Given the description of an element on the screen output the (x, y) to click on. 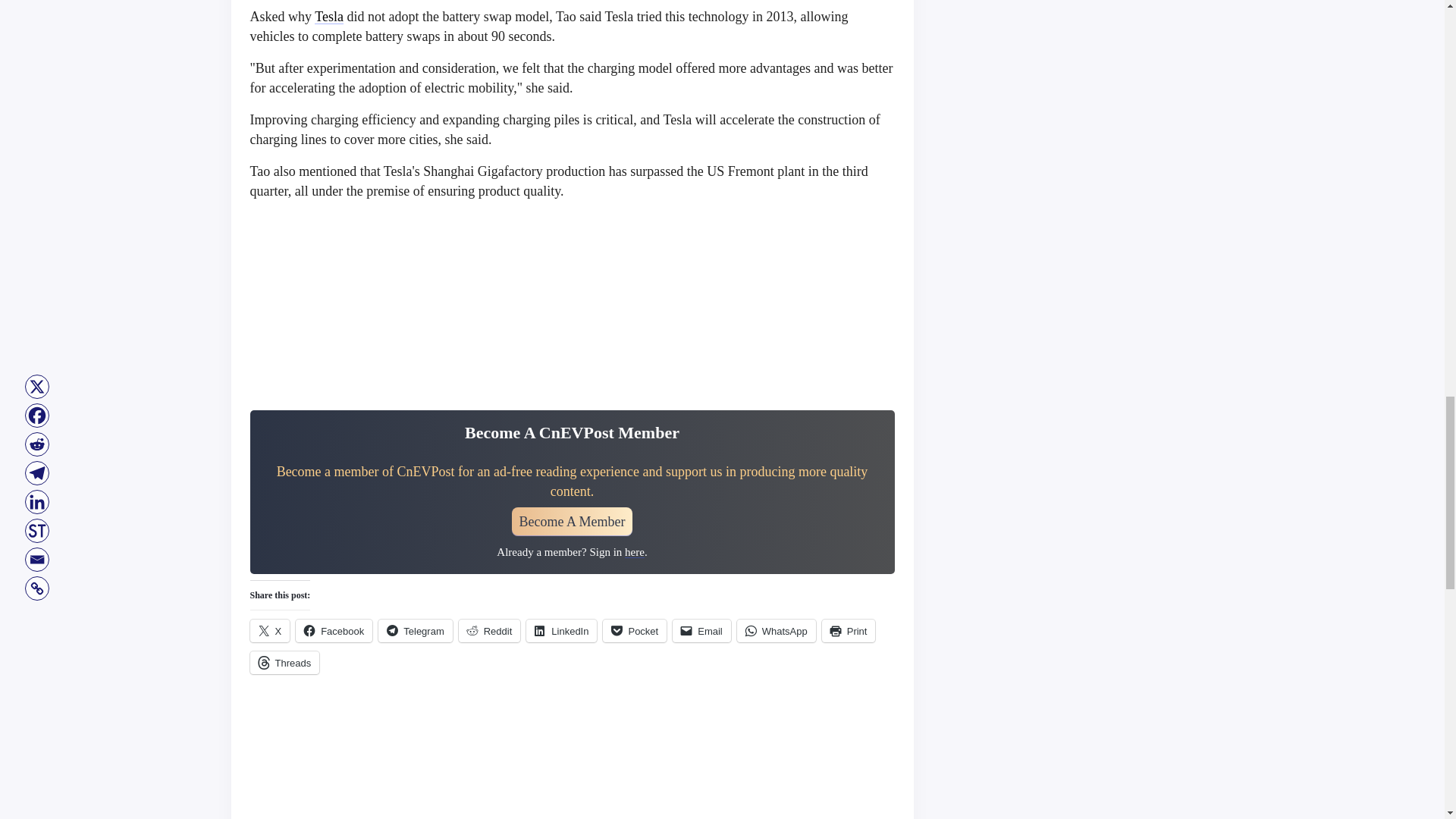
Tesla (328, 16)
WhatsApp (775, 630)
Click to print (849, 630)
Facebook (333, 630)
X (269, 630)
Reddit (489, 630)
here (634, 551)
Print (849, 630)
Email (701, 630)
LinkedIn (560, 630)
Threads (285, 662)
Click to share on Pocket (634, 630)
Click to share on WhatsApp (775, 630)
Click to share on Telegram (414, 630)
Click to email a link to a friend (701, 630)
